Given the description of an element on the screen output the (x, y) to click on. 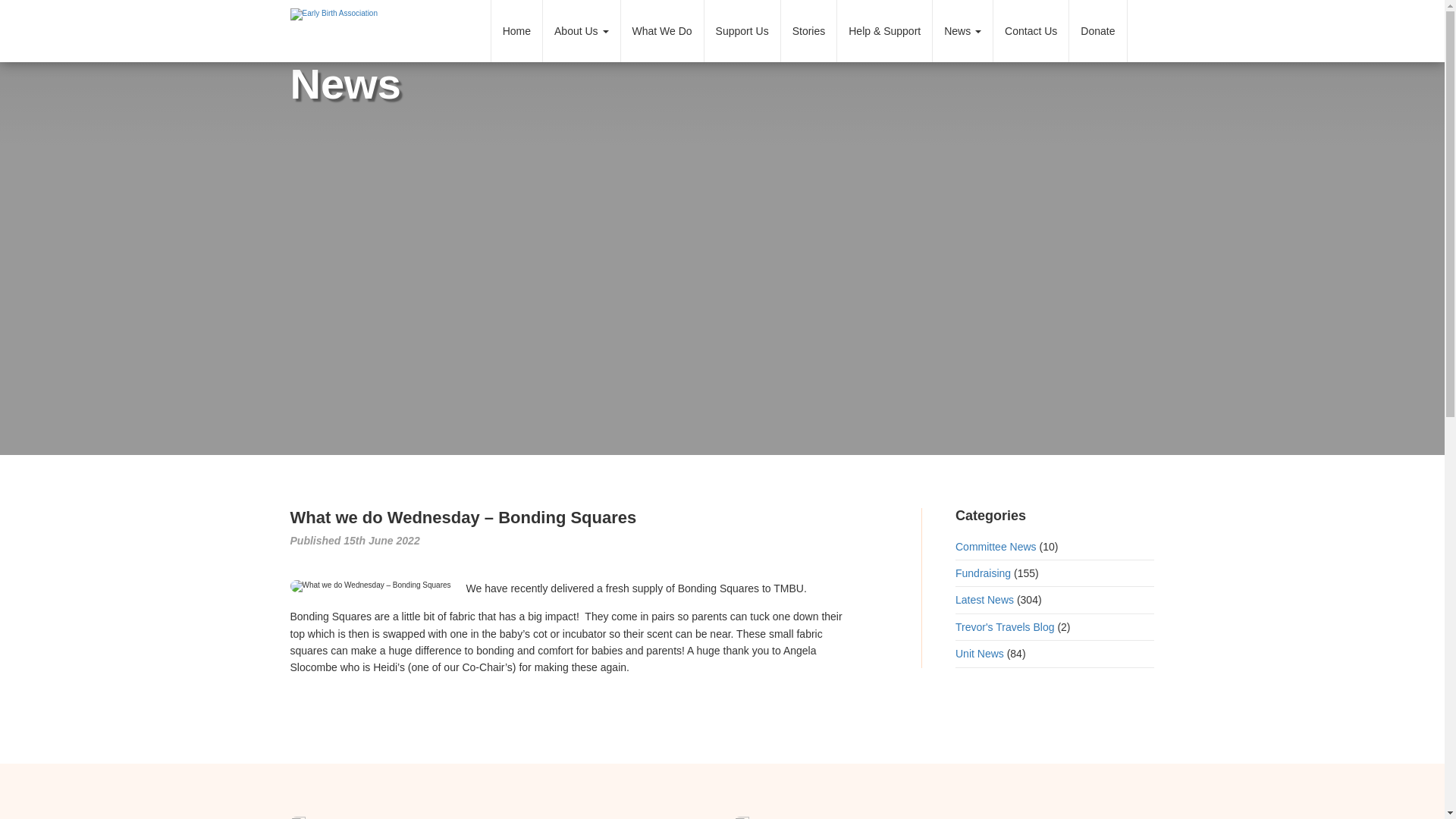
What We Do (661, 31)
Latest News (984, 599)
Support Us (742, 31)
Committee News (995, 546)
About Us (581, 31)
Stories (808, 31)
Donate (1096, 31)
Fundraising (982, 573)
News (962, 31)
Contact Us (1030, 31)
Contact Us (1030, 31)
Stories (808, 31)
Unit News (979, 653)
Support Us (742, 31)
Trevor's Travels Blog (1004, 626)
